Given the description of an element on the screen output the (x, y) to click on. 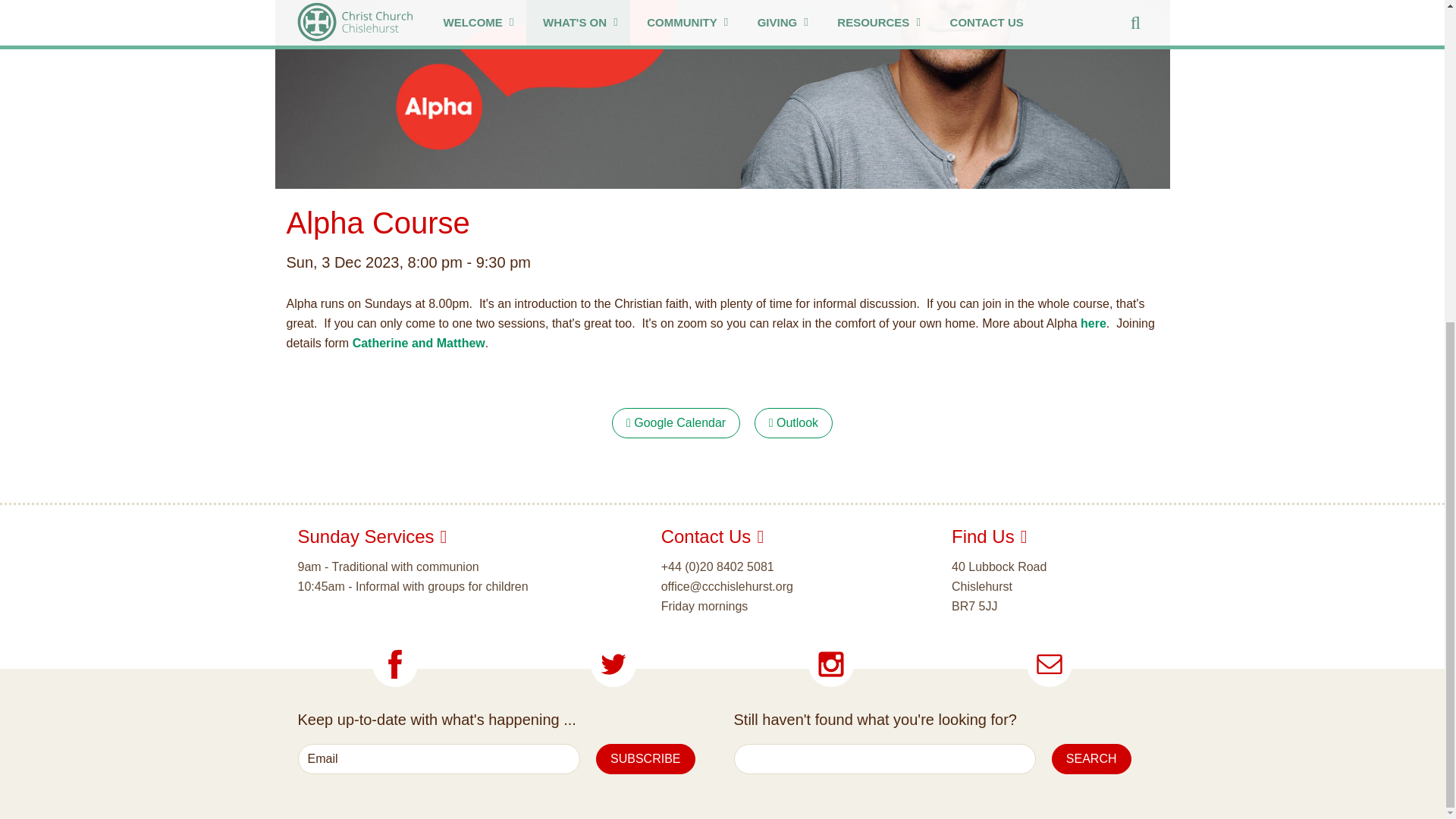
Subscribe (644, 758)
Search (1091, 758)
Subscribe (644, 758)
Instagram (830, 664)
Email (1048, 664)
Email (438, 758)
Facebook (394, 664)
 Google Calendar (675, 422)
Email (438, 758)
SEARCH (1091, 758)
